Given the description of an element on the screen output the (x, y) to click on. 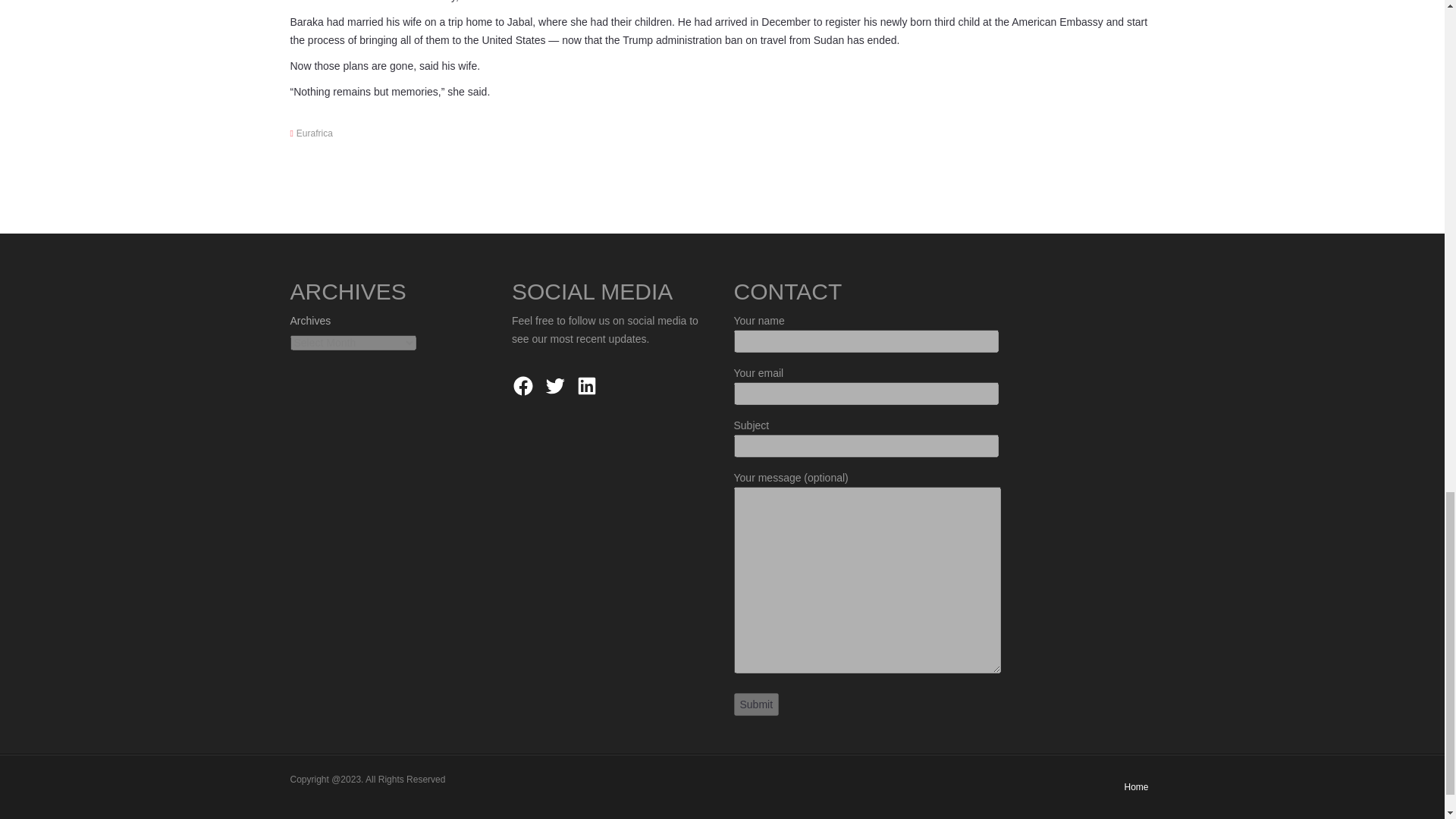
Submit (755, 703)
Home (1136, 787)
Submit (755, 703)
Eurafrica (315, 132)
